Given the description of an element on the screen output the (x, y) to click on. 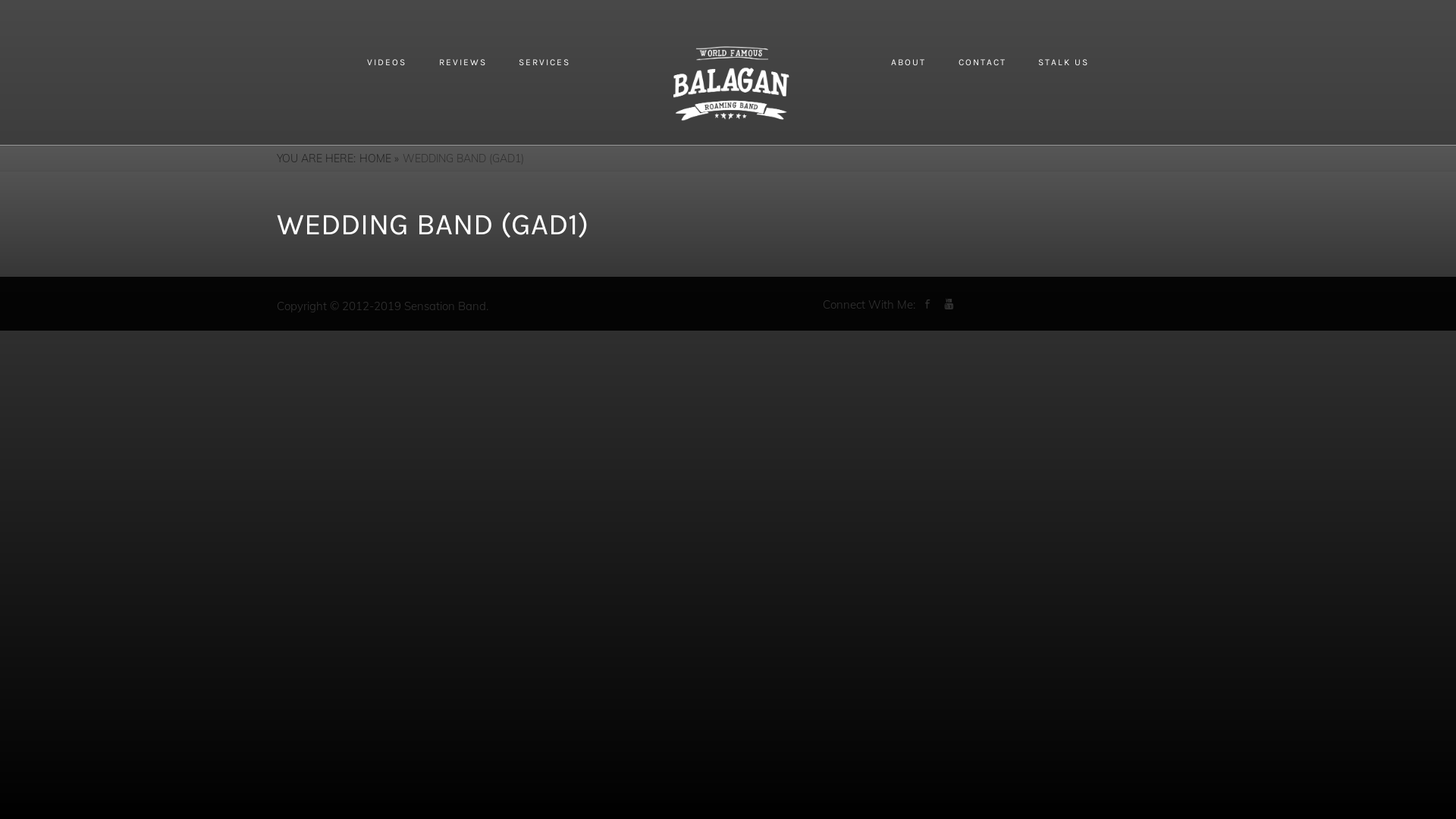
VIDEOS Element type: text (386, 61)
CONTACT Element type: text (982, 61)
SERVICES Element type: text (544, 61)
ABOUT Element type: text (908, 61)
REVIEWS Element type: text (462, 61)
STALK US Element type: text (1063, 61)
